Given the description of an element on the screen output the (x, y) to click on. 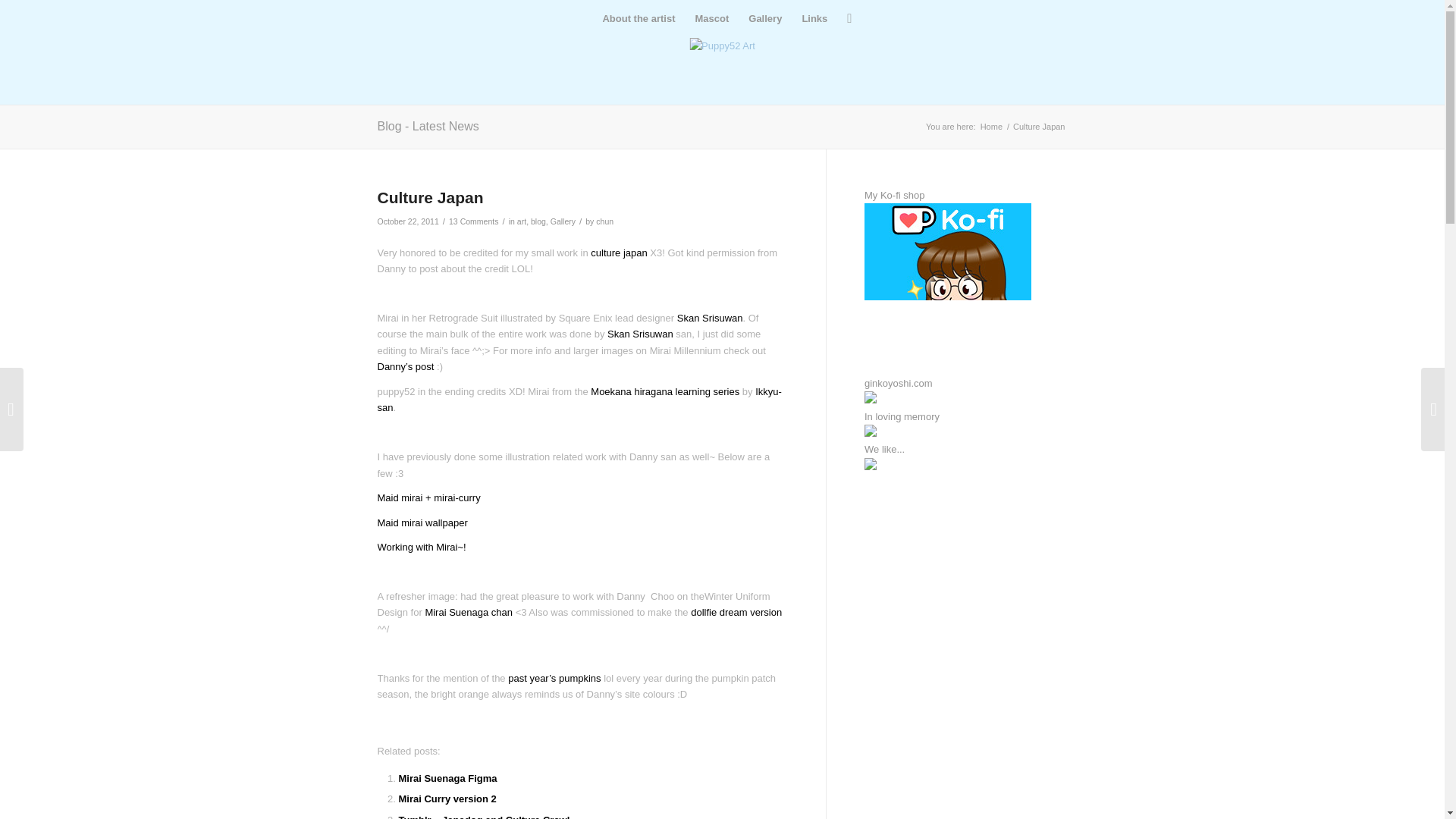
Permanent Link: Blog - Latest News (428, 125)
Mirai Suenaga chan (468, 612)
Mirai Suenaga Figma (447, 778)
Home (991, 126)
Ikkyu-san (579, 399)
Gallery (765, 18)
dollfie dream version (735, 612)
culture japan (618, 252)
Moekana hiragana learning series (665, 391)
Mirai Suenaga Figma (447, 778)
